Given the description of an element on the screen output the (x, y) to click on. 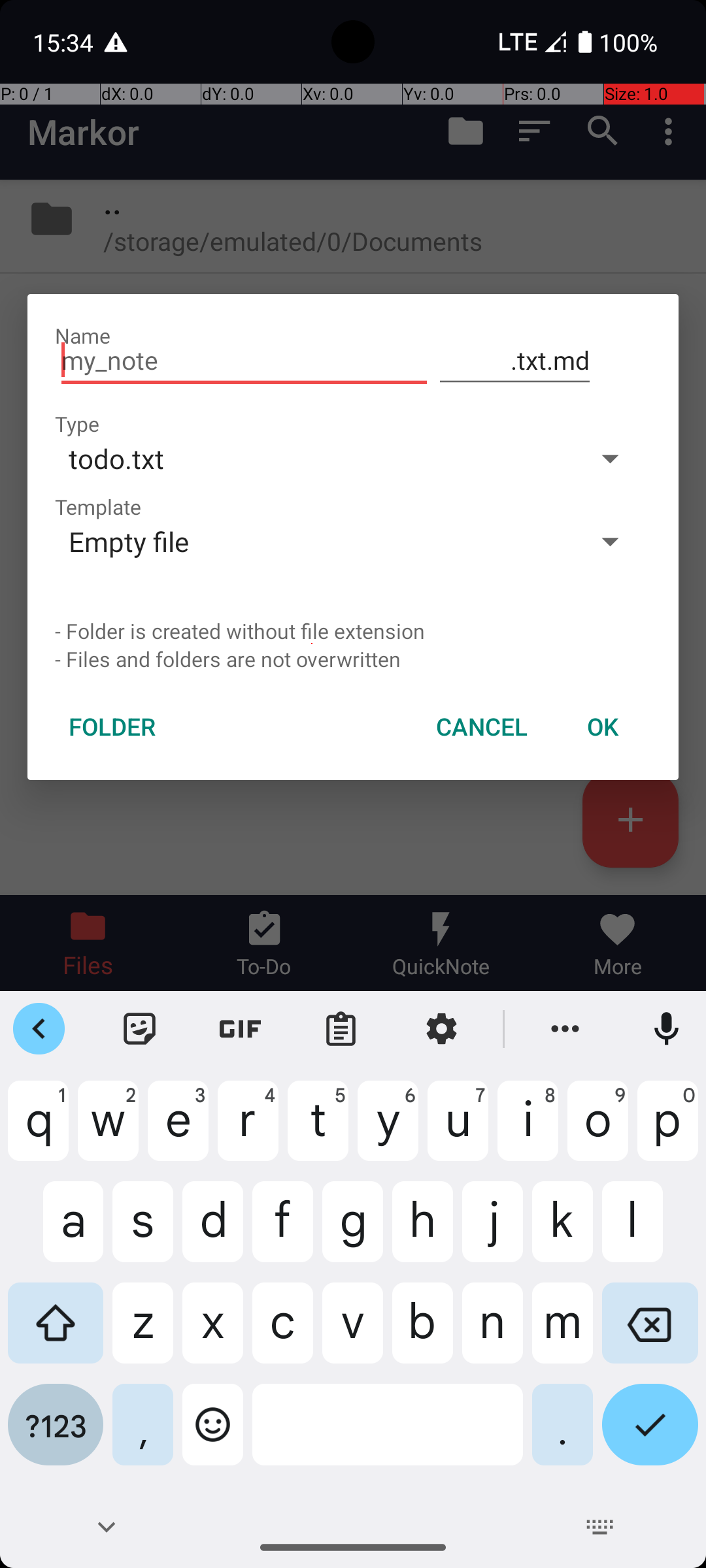
.txt.md Element type: android.widget.EditText (514, 360)
